Given the description of an element on the screen output the (x, y) to click on. 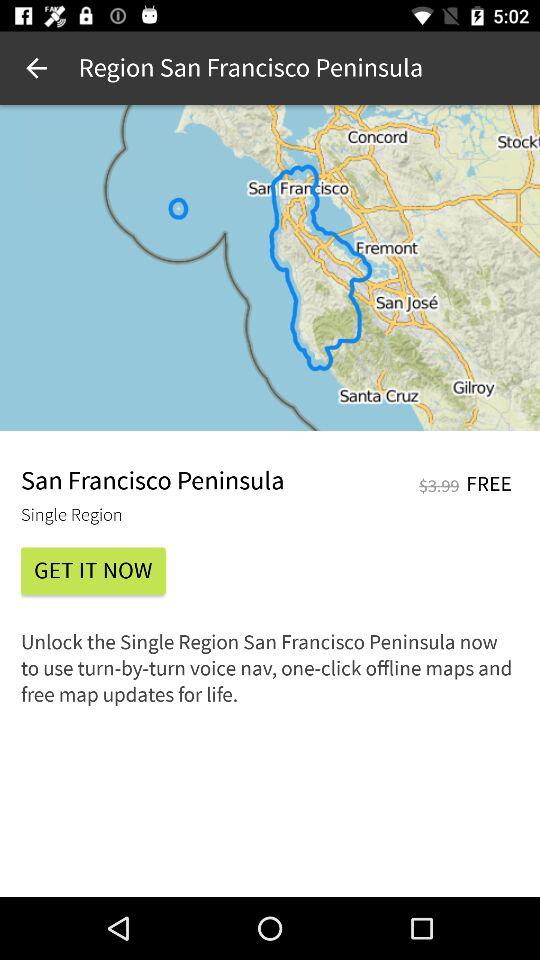
swipe to get it now item (93, 570)
